Given the description of an element on the screen output the (x, y) to click on. 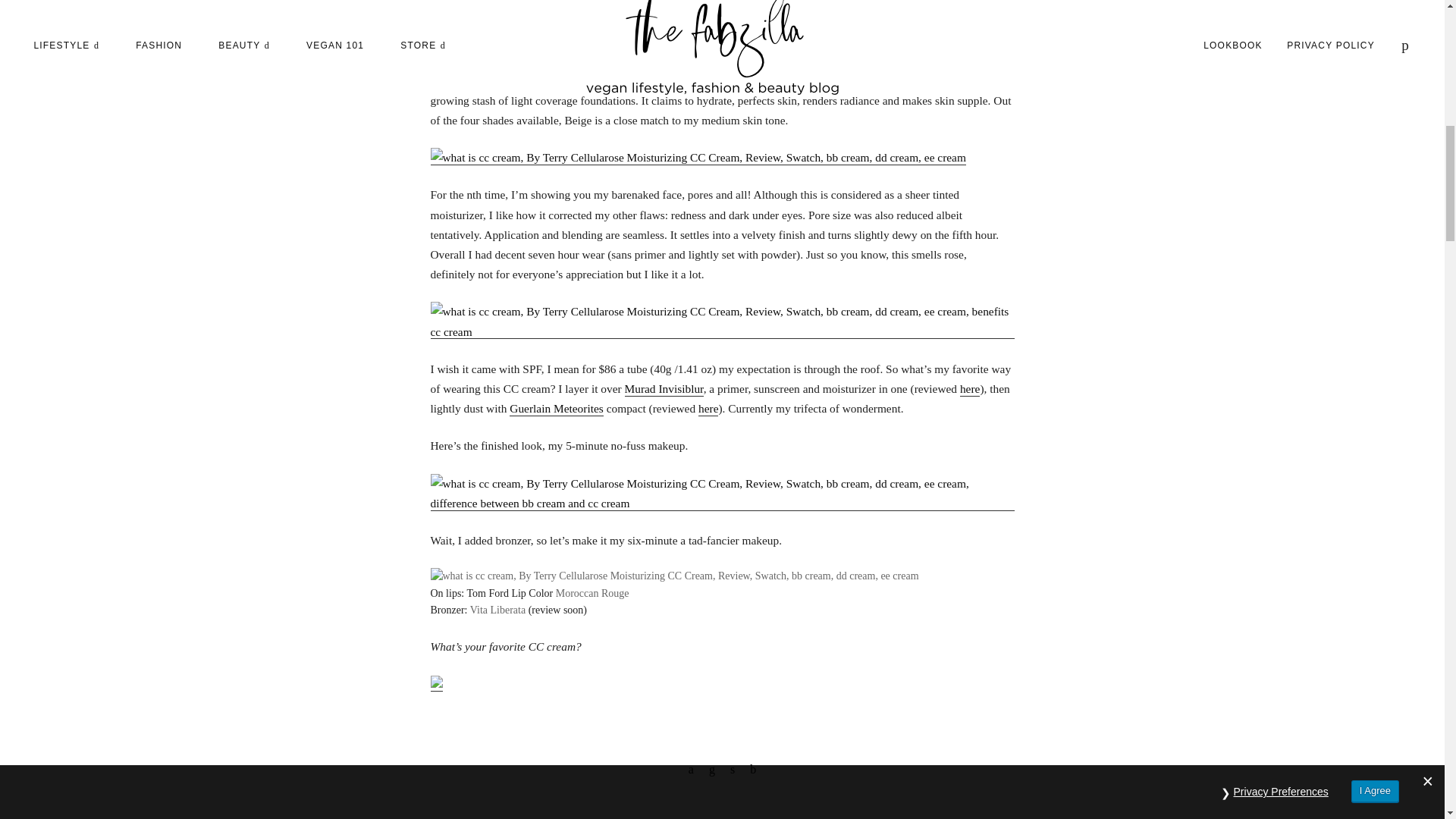
here (969, 389)
Murad Invisiblur (663, 389)
CC cream (684, 81)
